Given the description of an element on the screen output the (x, y) to click on. 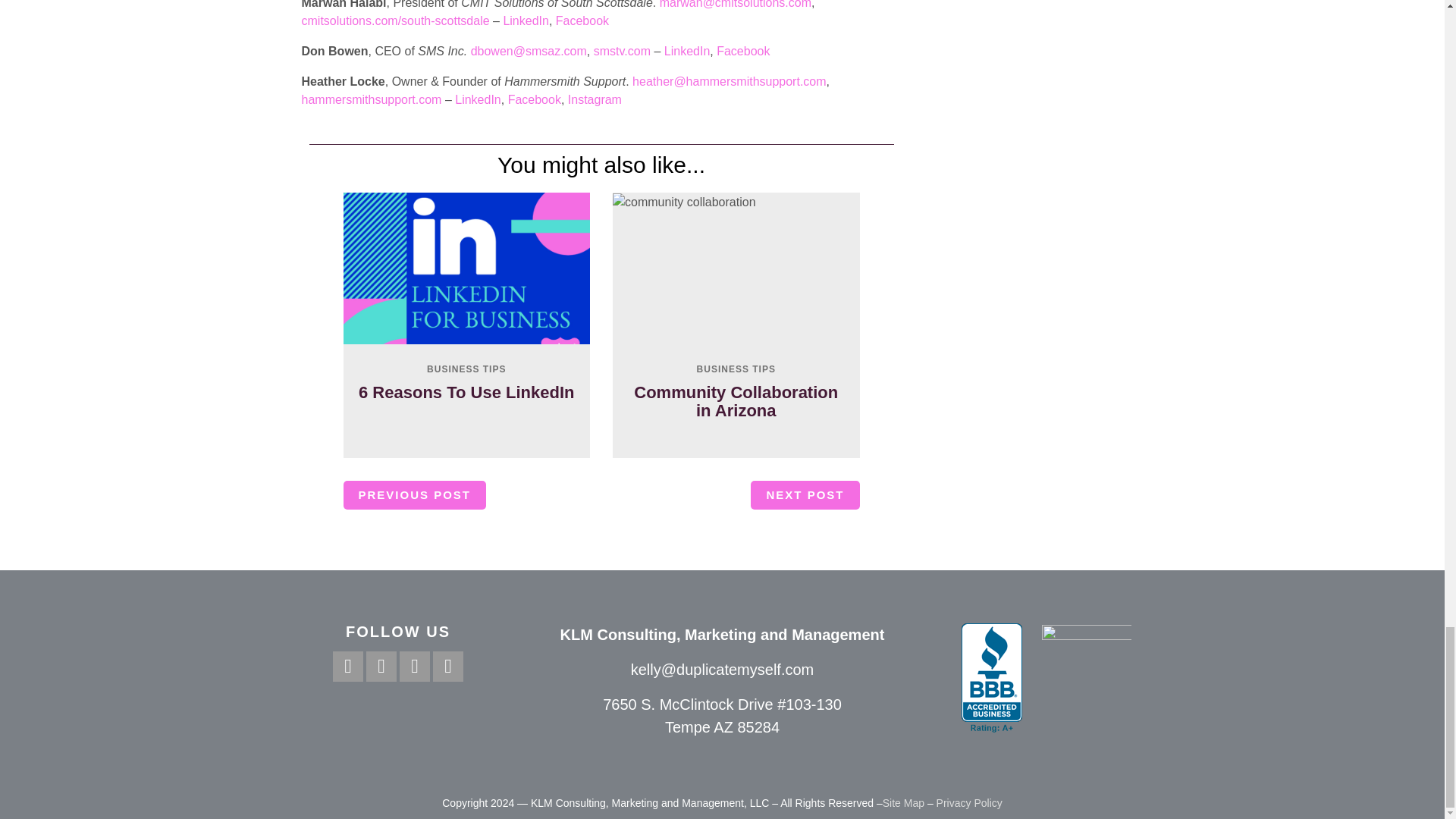
Community Collaboration in Arizona (735, 401)
hammersmithsupport.com (371, 99)
youtube (413, 666)
facebook (347, 666)
instagram (381, 666)
LinkedIn (477, 99)
NEXT POST (805, 495)
linkedin (447, 666)
BUSINESS TIPS (736, 368)
Facebook (582, 20)
